Given the description of an element on the screen output the (x, y) to click on. 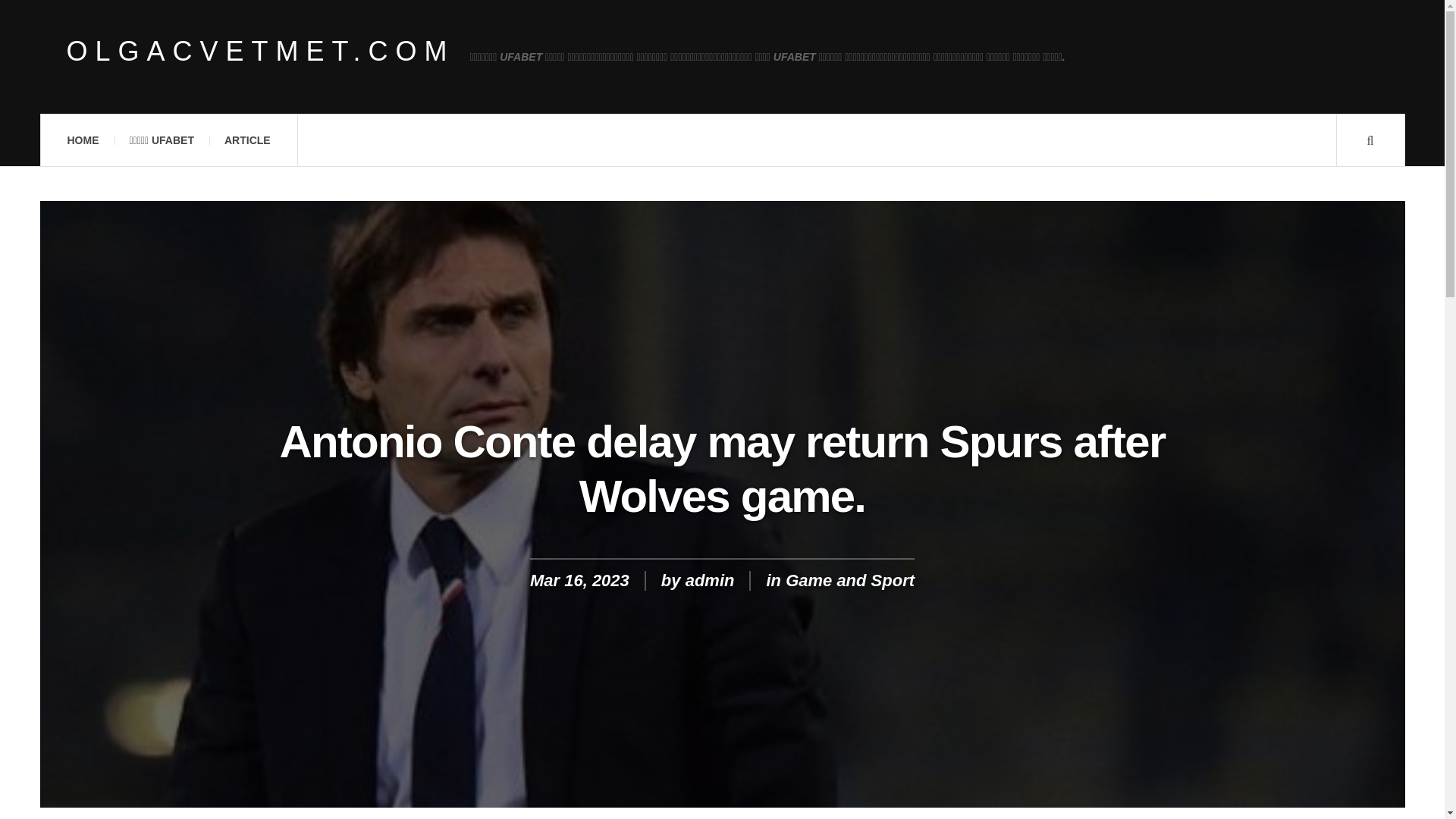
OLGACVETMET.COM (260, 51)
admin (710, 579)
View all posts in Game and Sport (850, 579)
olgacvetmet.com (260, 51)
HOME (81, 140)
Game and Sport (850, 579)
ARTICLE (247, 140)
